Given the description of an element on the screen output the (x, y) to click on. 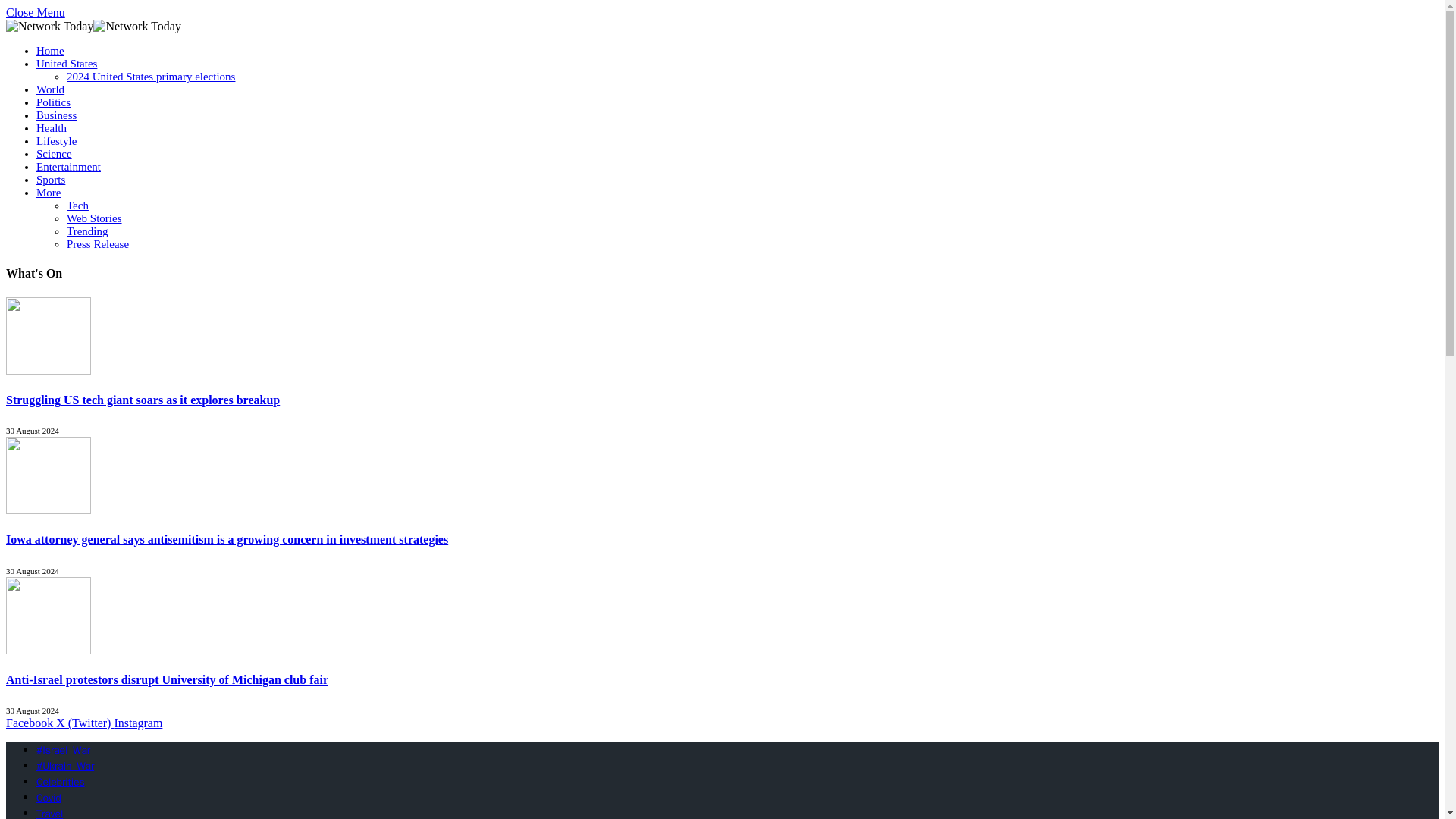
United States (66, 63)
Science (53, 153)
Trending (86, 231)
Struggling US tech giant soars as it explores breakup (47, 395)
Business (56, 114)
Home (50, 50)
Entertainment (68, 166)
